Given the description of an element on the screen output the (x, y) to click on. 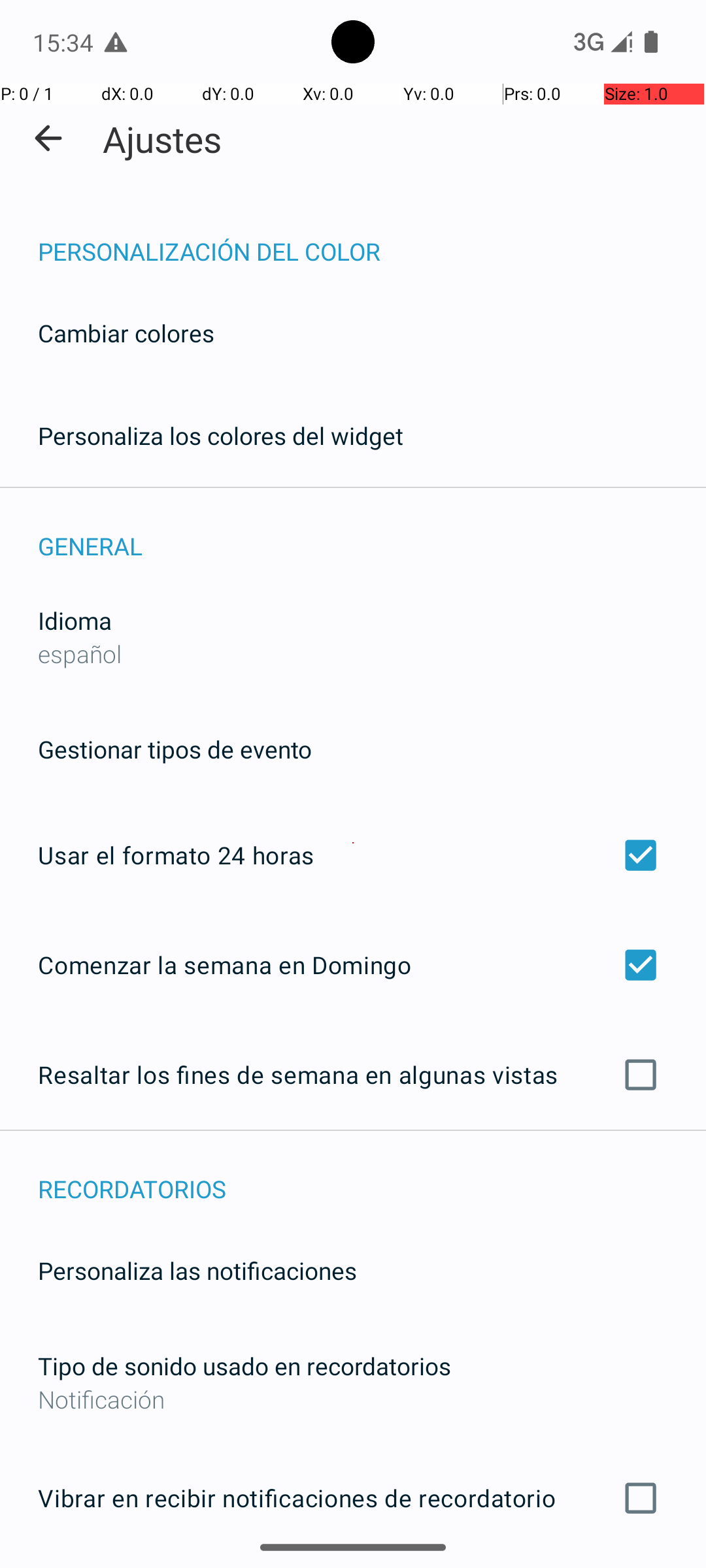
PERSONALIZACIÓN DEL COLOR Element type: android.widget.TextView (371, 237)
GENERAL Element type: android.widget.TextView (371, 532)
RECORDATORIOS Element type: android.widget.TextView (371, 1174)
Cambiar colores Element type: android.widget.TextView (125, 332)
Personaliza los colores del widget Element type: android.widget.TextView (220, 435)
Idioma Element type: android.widget.TextView (74, 620)
español Element type: android.widget.TextView (79, 653)
Gestionar tipos de evento Element type: android.widget.TextView (174, 748)
Usar el formato 24 horas Element type: android.widget.CheckBox (352, 855)
Comenzar la semana en Domingo Element type: android.widget.CheckBox (352, 964)
Resaltar los fines de semana en algunas vistas Element type: android.widget.CheckBox (352, 1074)
Personaliza las notificaciones Element type: android.widget.TextView (196, 1270)
Tipo de sonido usado en recordatorios Element type: android.widget.TextView (244, 1365)
Notificación Element type: android.widget.TextView (352, 1398)
Vibrar en recibir notificaciones de recordatorio Element type: android.widget.CheckBox (352, 1497)
Repetir recordatorios hasta ser descartados Element type: android.widget.CheckBox (352, 1567)
